Given the description of an element on the screen output the (x, y) to click on. 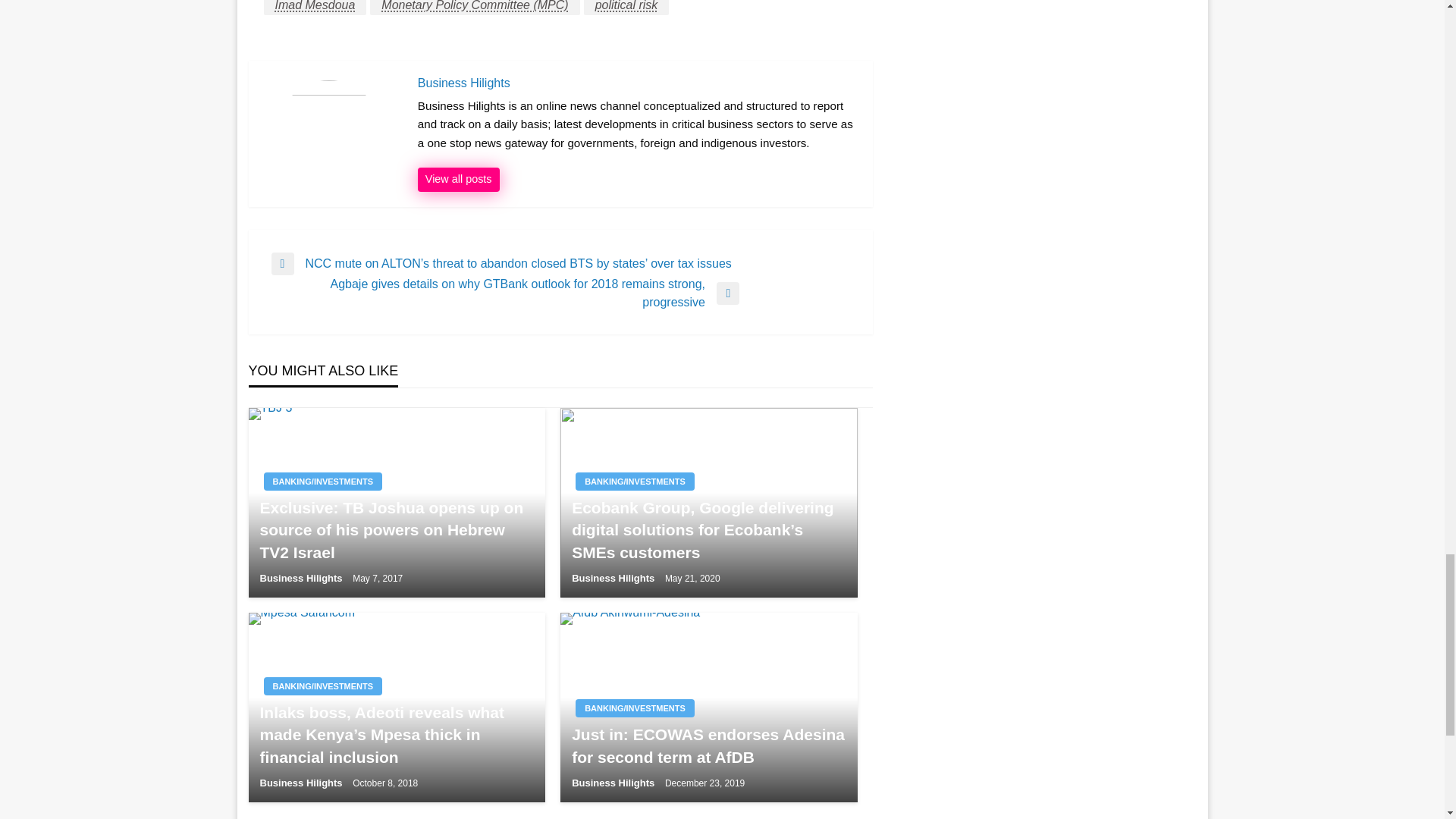
Business Hilights (637, 83)
Business Hilights (458, 179)
